Given the description of an element on the screen output the (x, y) to click on. 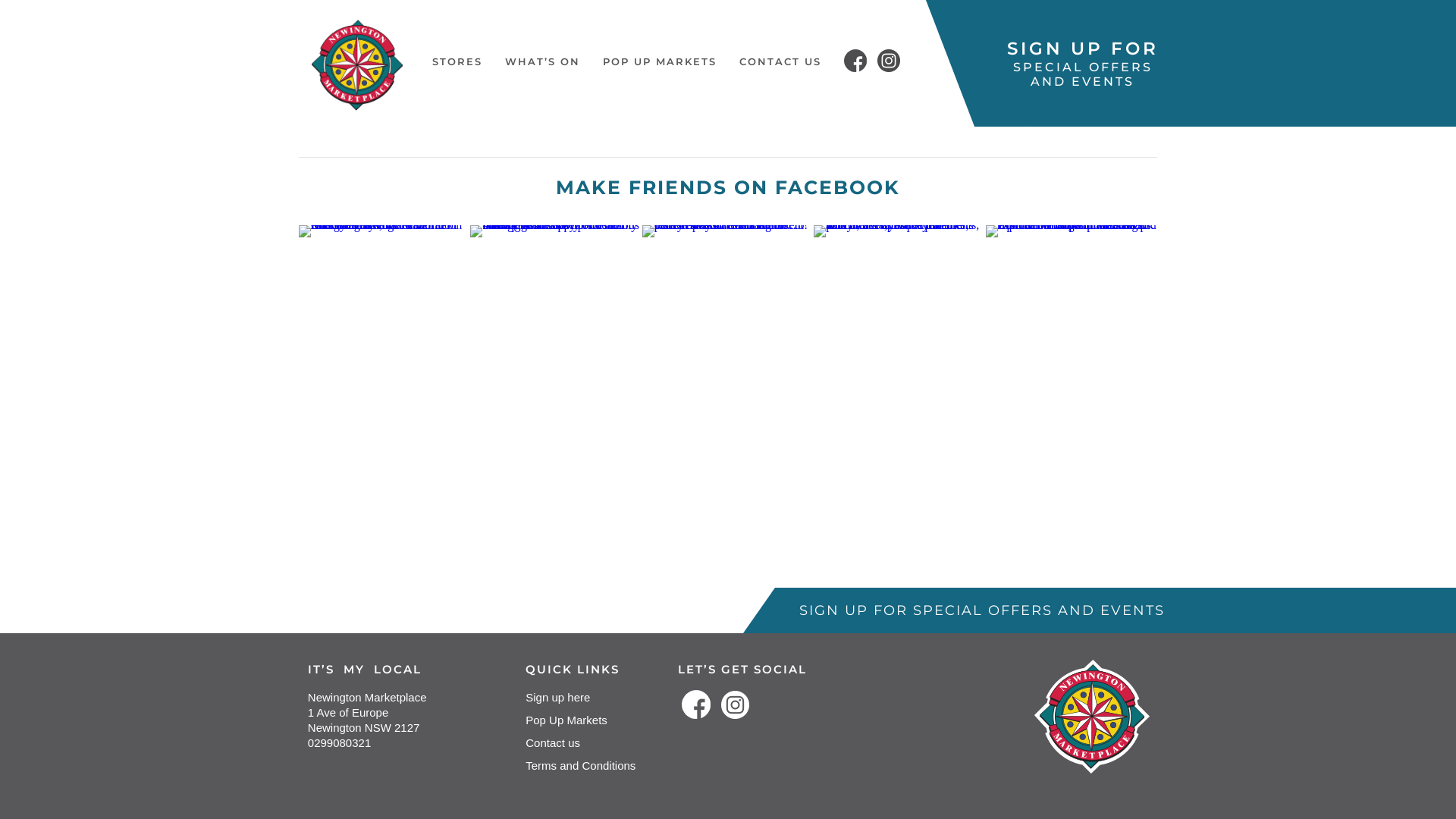
CONTACT US Element type: text (780, 60)
POP UP MARKETS Element type: text (659, 60)
Contact us Element type: text (580, 742)
Newington Element type: hover (363, 64)
Pop Up Markets Element type: text (580, 720)
STORES Element type: text (456, 60)
Sign up here Element type: text (580, 697)
Terms and Conditions Element type: text (580, 765)
